Given the description of an element on the screen output the (x, y) to click on. 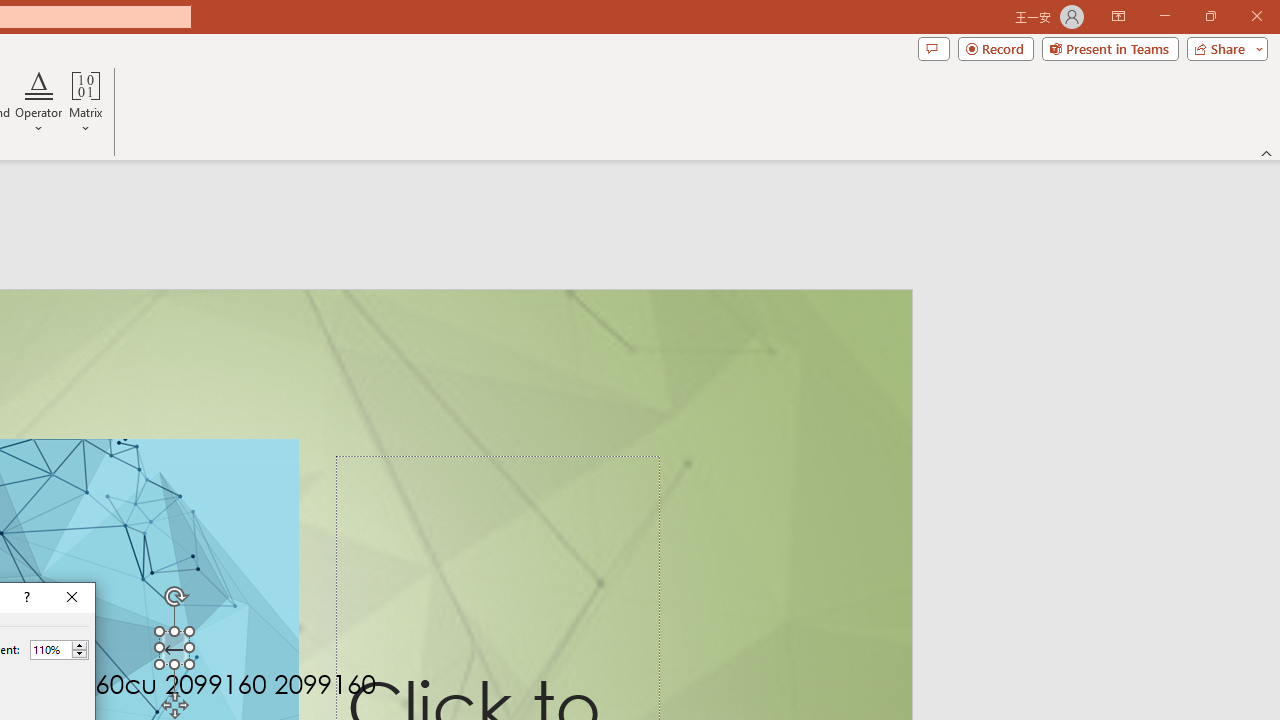
Percent (50, 649)
